Given the description of an element on the screen output the (x, y) to click on. 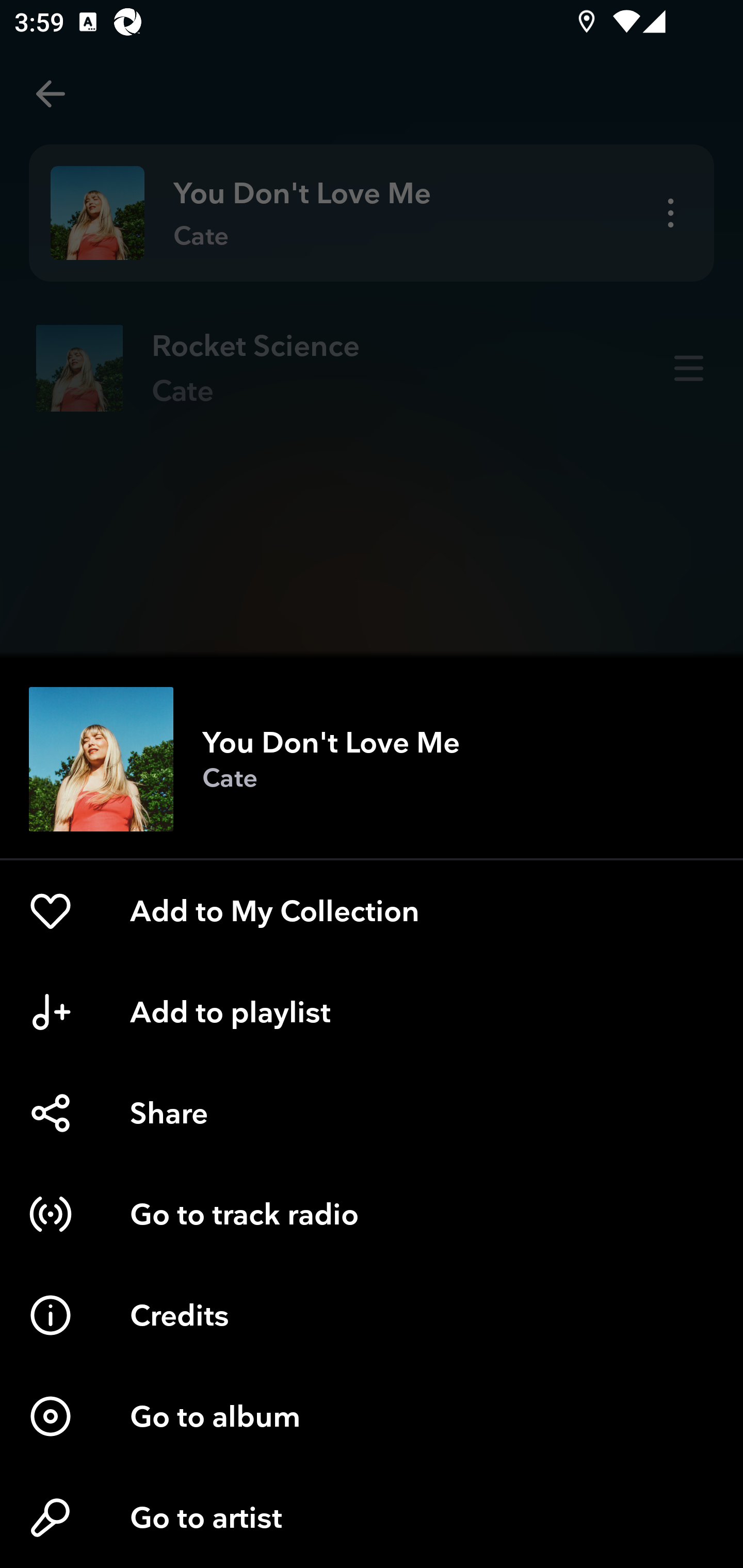
Add to My Collection (371, 910)
Add to playlist (371, 1012)
Share (371, 1113)
Go to track radio (371, 1214)
Credits (371, 1315)
Go to album (371, 1416)
Go to artist (371, 1517)
